Given the description of an element on the screen output the (x, y) to click on. 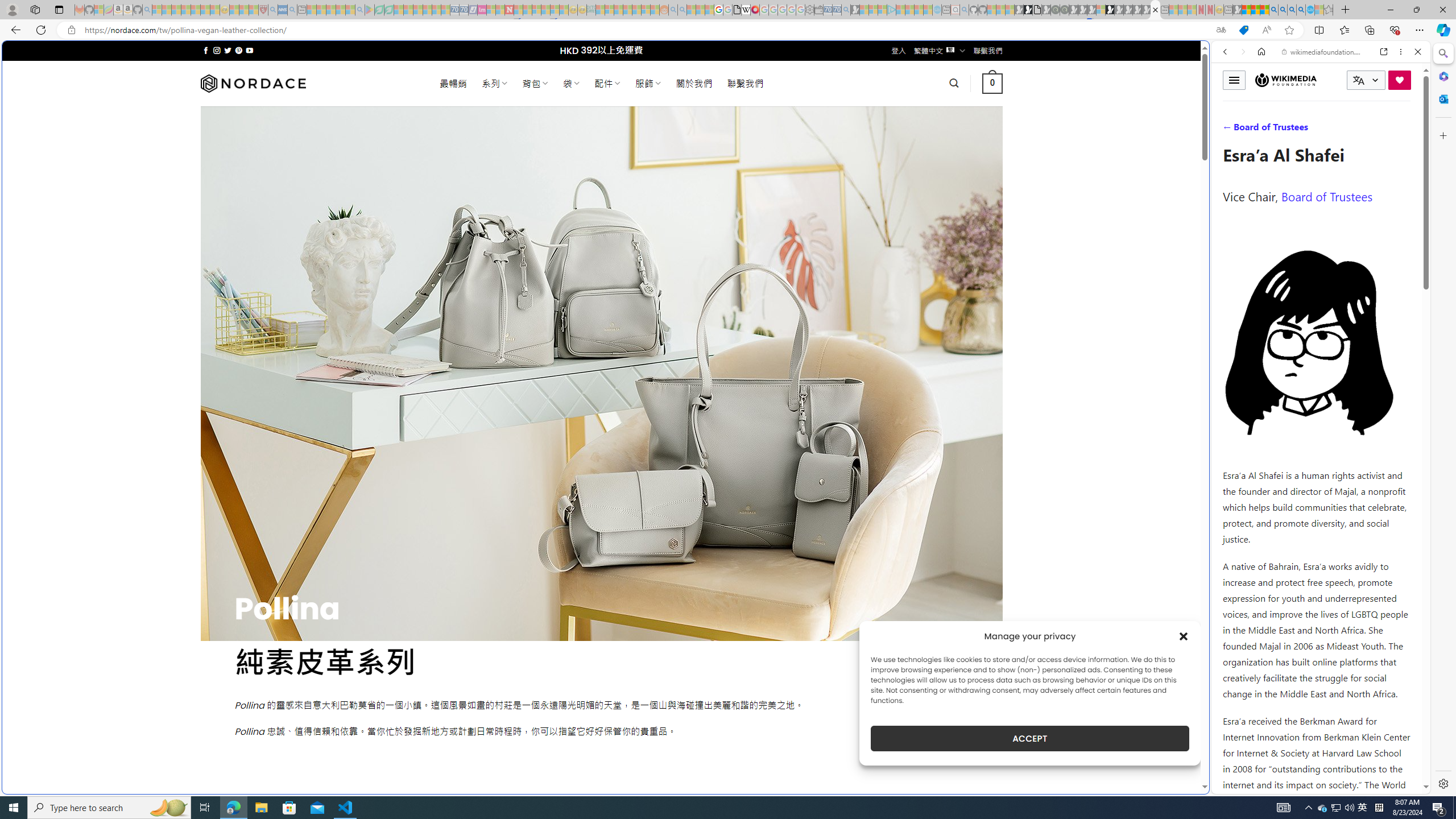
Address and search bar (647, 29)
App bar (728, 29)
SEARCH TOOLS (1350, 130)
wikimediafoundation.org (1323, 51)
list of asthma inhalers uk - Search - Sleeping (272, 9)
  0   (992, 83)
Utah sues federal government - Search - Sleeping (681, 9)
Close tab (1155, 9)
